Given the description of an element on the screen output the (x, y) to click on. 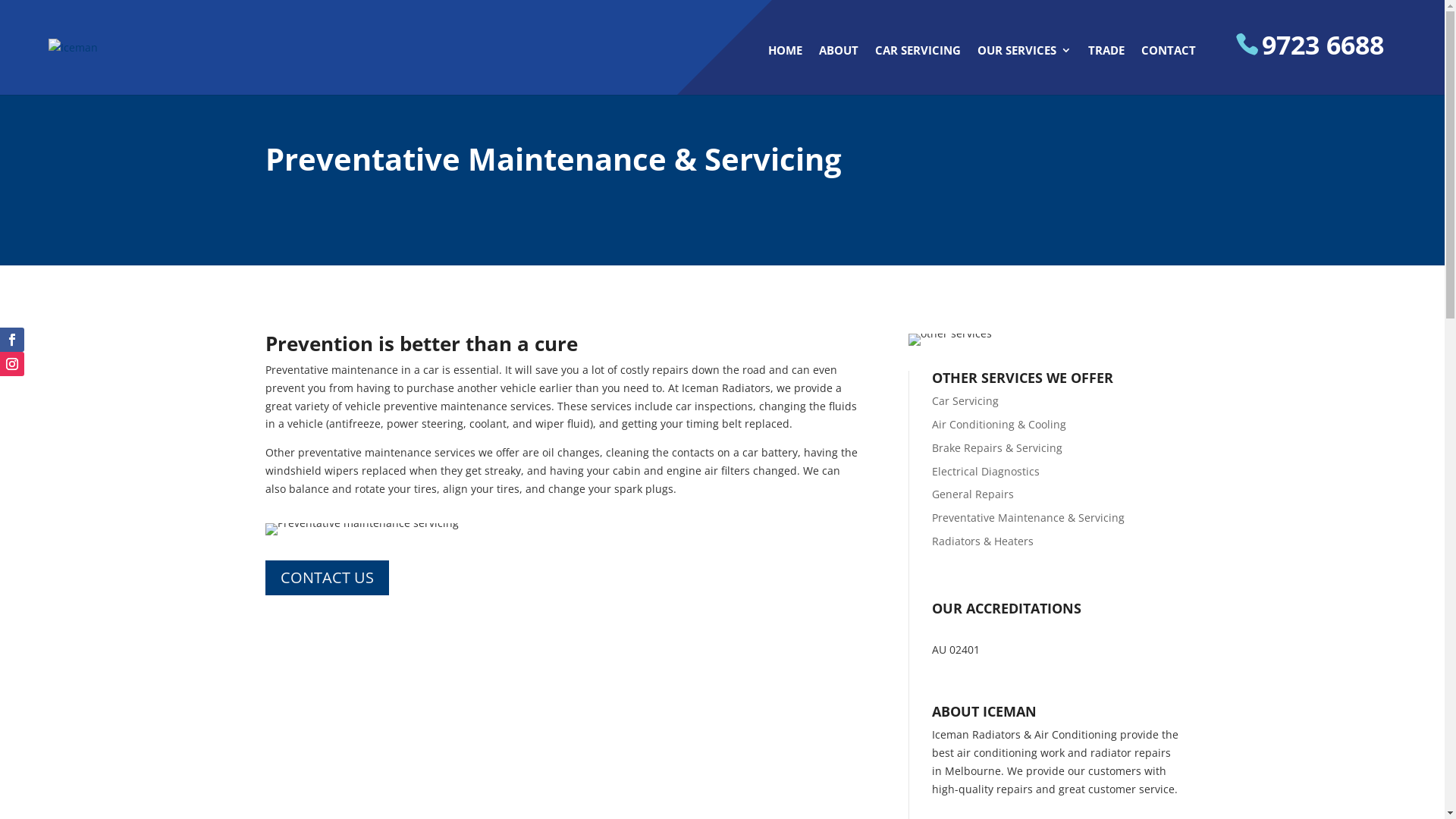
Follow on Facebook Element type: hover (12, 339)
HOME Element type: text (785, 69)
Electrical Diagnostics Element type: text (985, 471)
Preventative Maintenance & Servicing Element type: text (1027, 517)
Radiators & Heaters Element type: text (982, 540)
CAR SERVICING Element type: text (917, 69)
Follow on Instagram Element type: hover (12, 363)
ABOUT Element type: text (838, 69)
TRADE Element type: text (1106, 69)
Car Servicing Element type: text (964, 400)
Air Conditioning & Cooling Element type: text (998, 424)
CONTACT Element type: text (1168, 69)
Brake Repairs & Servicing Element type: text (996, 447)
9723 6688 Element type: text (1309, 64)
OUR SERVICES Element type: text (1024, 69)
CONTACT US Element type: text (327, 577)
General Repairs Element type: text (972, 493)
